Given the description of an element on the screen output the (x, y) to click on. 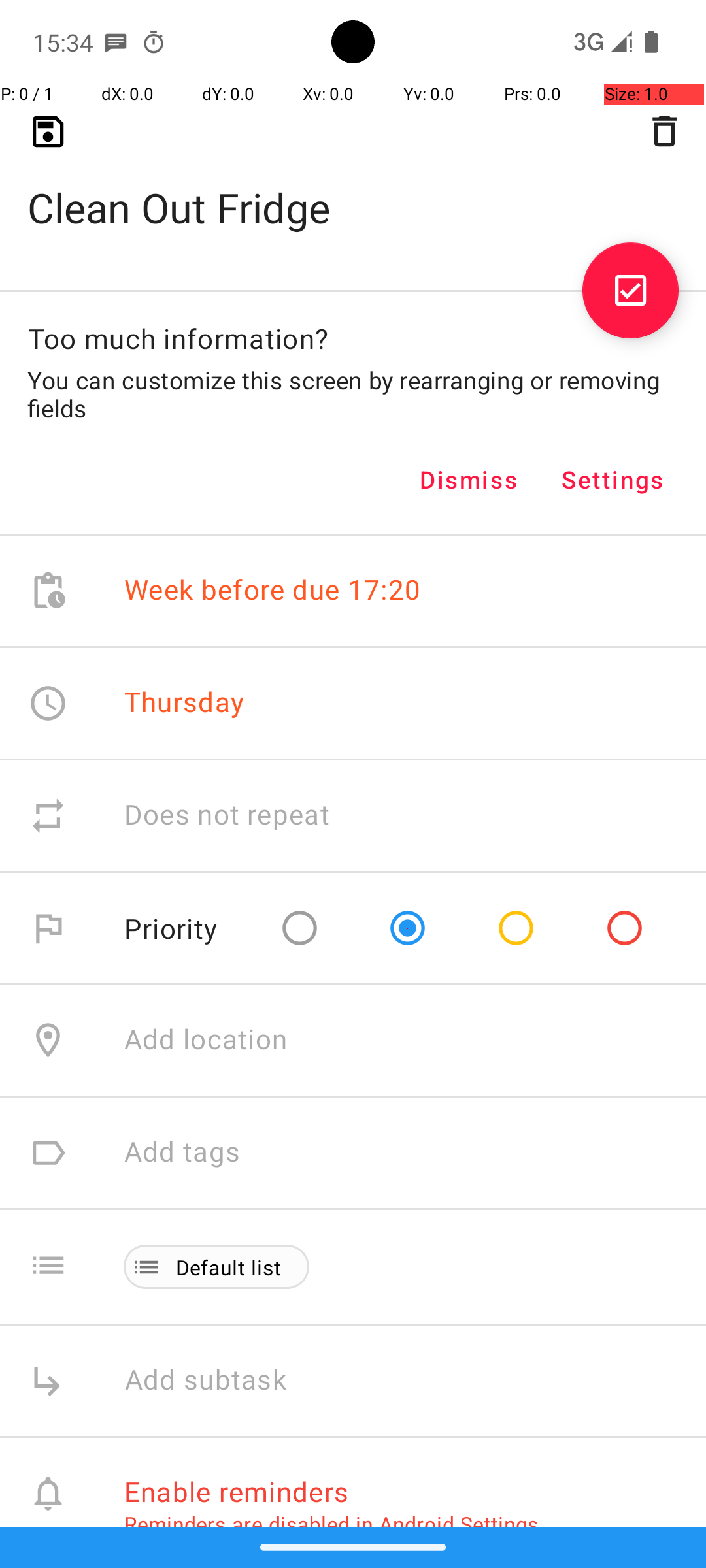
Week before due 17:20 Element type: android.widget.TextView (272, 590)
